Given the description of an element on the screen output the (x, y) to click on. 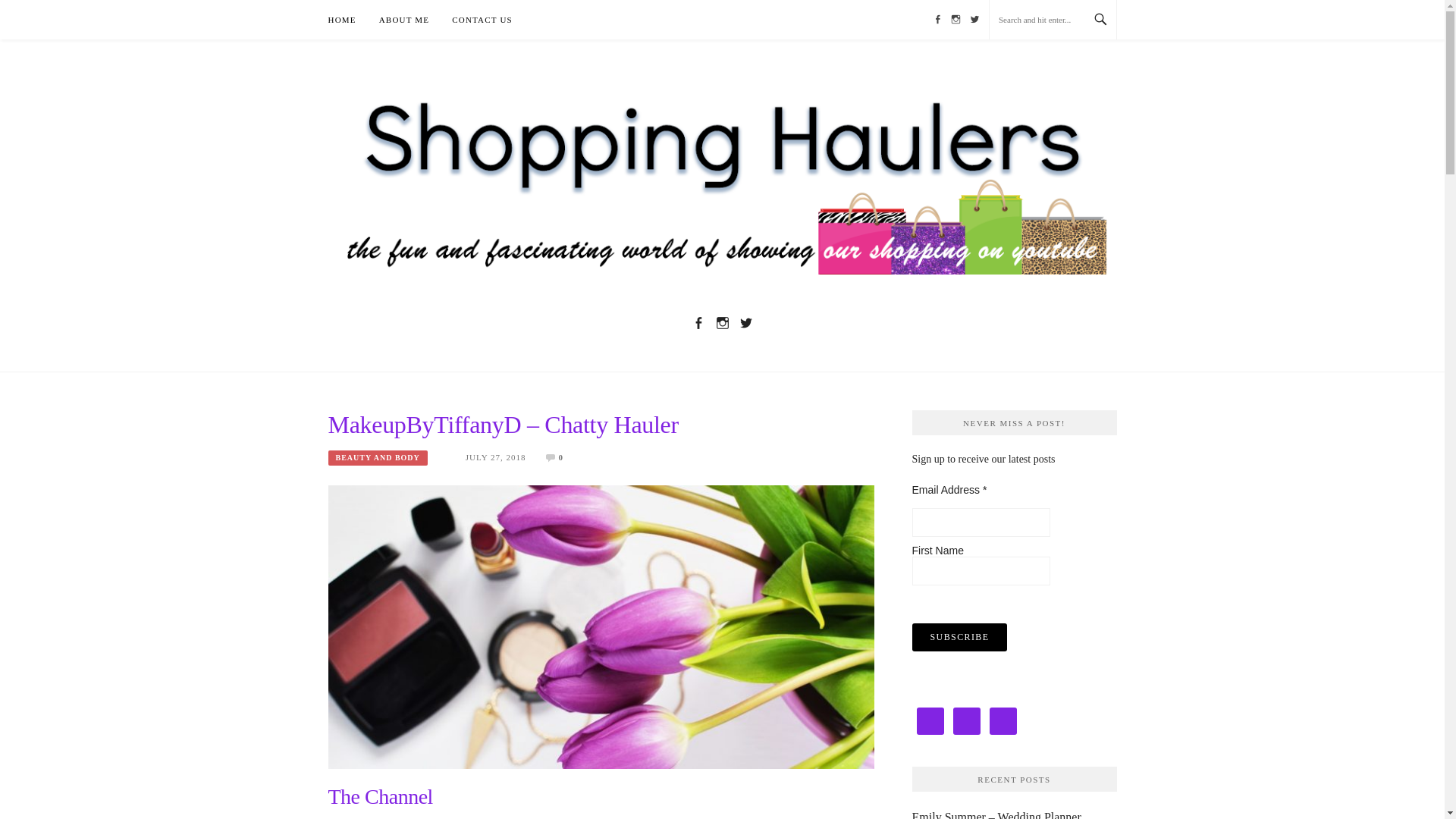
HOME (341, 19)
Instagram (722, 321)
0 (560, 456)
Subscribe (959, 636)
CONTACT US (481, 19)
ABOUT ME (403, 19)
BEAUTY AND BODY (376, 458)
Twitter (745, 321)
Subscribe (959, 636)
SHOPPING HAULERS (558, 319)
FaceBook (697, 321)
